Given the description of an element on the screen output the (x, y) to click on. 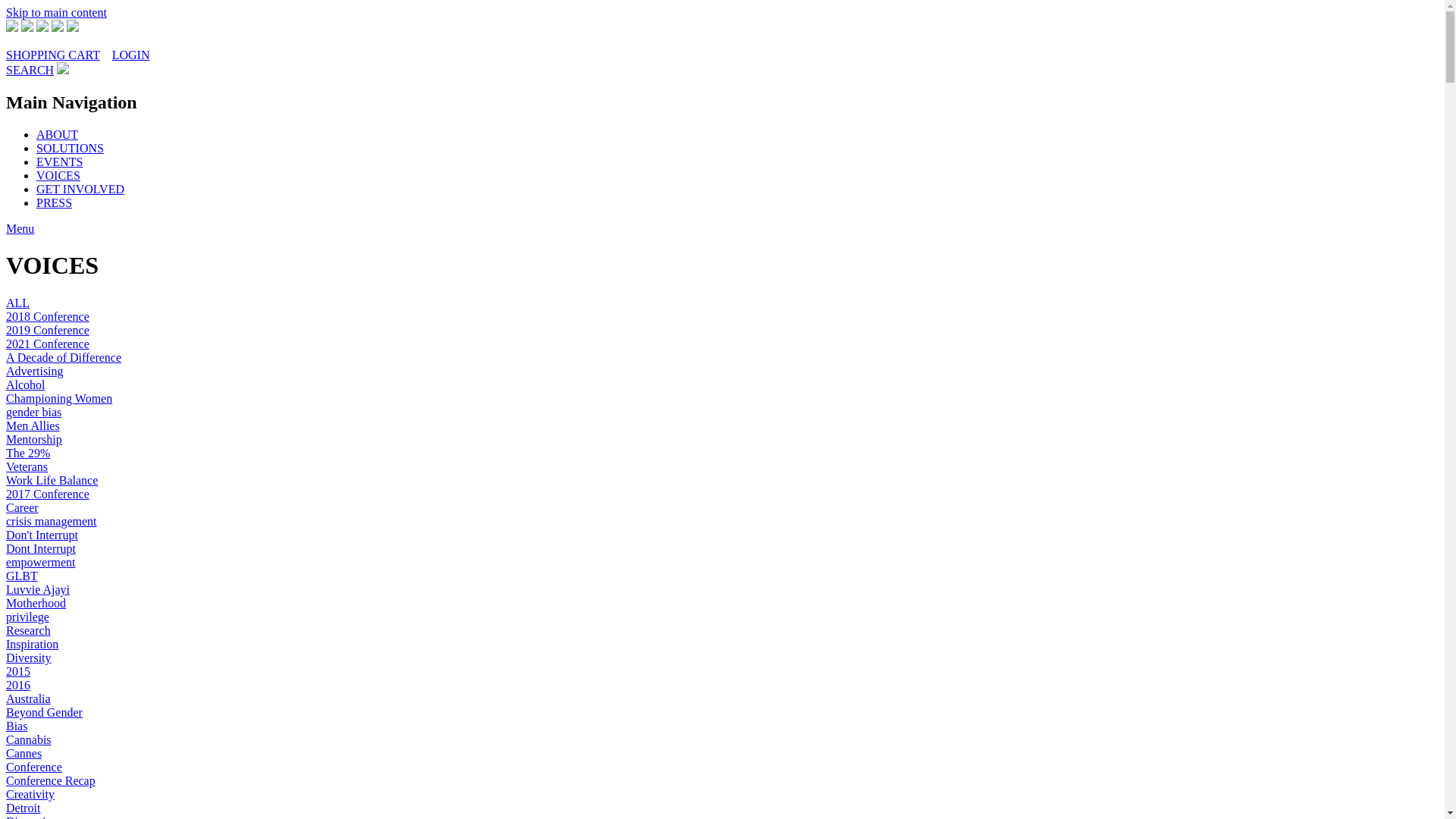
Bias Element type: text (16, 725)
Veterans Element type: text (26, 466)
2021 Conference Element type: text (47, 343)
GET INVOLVED Element type: text (80, 188)
ABOUT Element type: text (57, 134)
PRESS Element type: text (54, 202)
privilege Element type: text (27, 616)
2019 Conference Element type: text (47, 329)
Championing Women Element type: text (59, 398)
crisis management Element type: text (51, 520)
Inspiration Element type: text (32, 643)
Beyond Gender Element type: text (44, 712)
LOGIN Element type: text (131, 54)
Skip to main content Element type: text (56, 12)
Australia Element type: text (28, 698)
Conference Recap Element type: text (50, 780)
SEARCH Element type: text (29, 69)
Cannes Element type: text (23, 752)
ALL Element type: text (17, 302)
Don't Interrupt Element type: text (42, 534)
2018 Conference Element type: text (47, 316)
EVENTS Element type: text (59, 161)
empowerment Element type: text (40, 561)
GLBT Element type: text (21, 575)
2017 Conference Element type: text (47, 493)
2015 Element type: text (18, 671)
Luvvie Ajayi Element type: text (37, 589)
SOLUTIONS Element type: text (69, 147)
Advertising Element type: text (34, 370)
A Decade of Difference Element type: text (63, 357)
Men Allies Element type: text (32, 425)
VOICES Element type: text (58, 175)
SHOPPING CART Element type: text (53, 54)
Career Element type: text (22, 507)
gender bias Element type: text (33, 411)
2016 Element type: text (18, 684)
Motherhood Element type: text (35, 602)
Work Life Balance Element type: text (51, 479)
Alcohol Element type: text (25, 384)
Creativity Element type: text (30, 793)
Research Element type: text (28, 630)
Dont Interrupt Element type: text (40, 548)
Cannabis Element type: text (28, 739)
Menu Element type: text (20, 228)
The 29% Element type: text (28, 452)
Diversity Element type: text (28, 657)
Conference Element type: text (34, 766)
Detroit Element type: text (23, 807)
Mentorship Element type: text (34, 439)
